Given the description of an element on the screen output the (x, y) to click on. 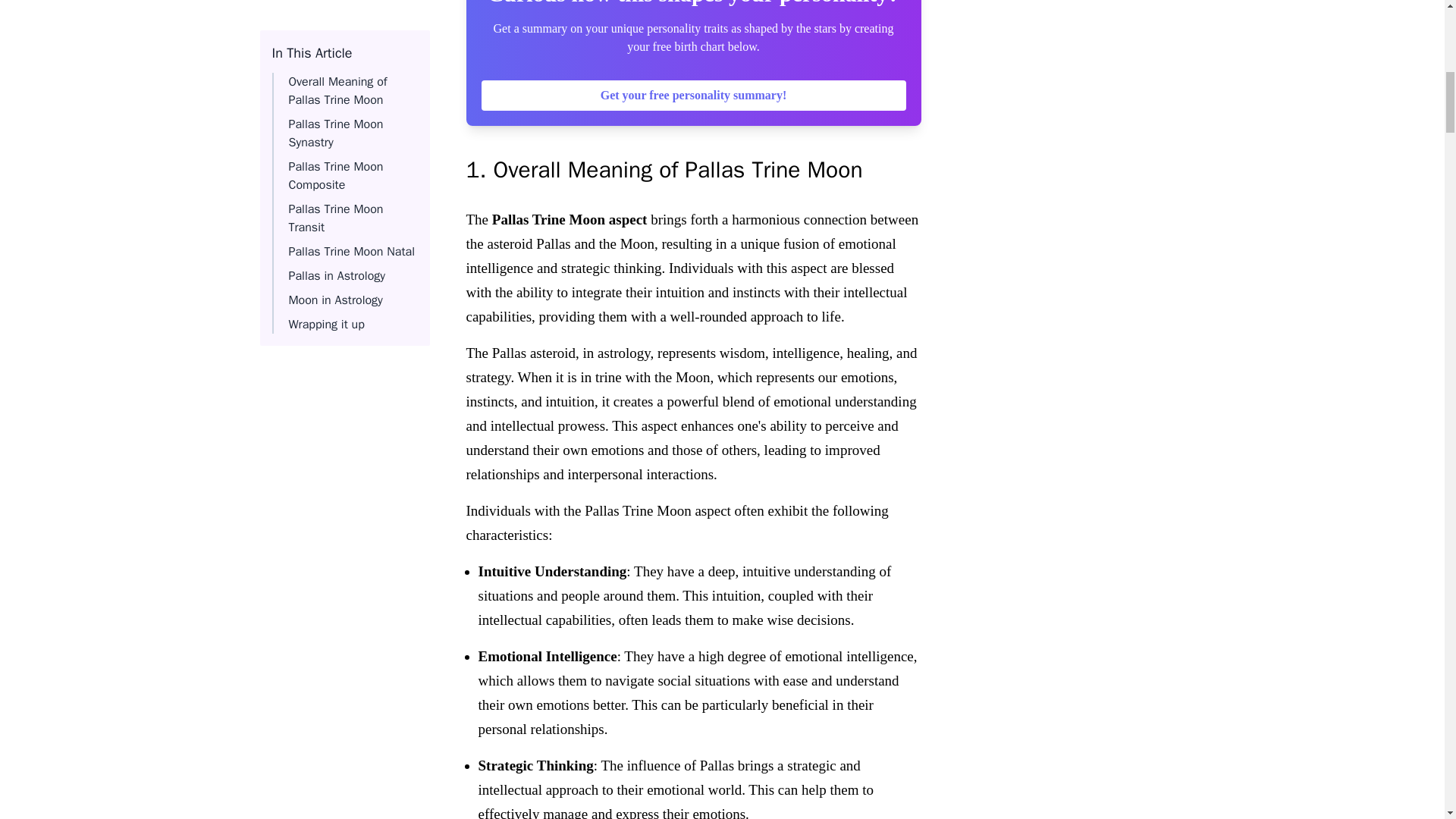
Get your free personality summary! (692, 95)
Wrapping it up (326, 16)
